Given the description of an element on the screen output the (x, y) to click on. 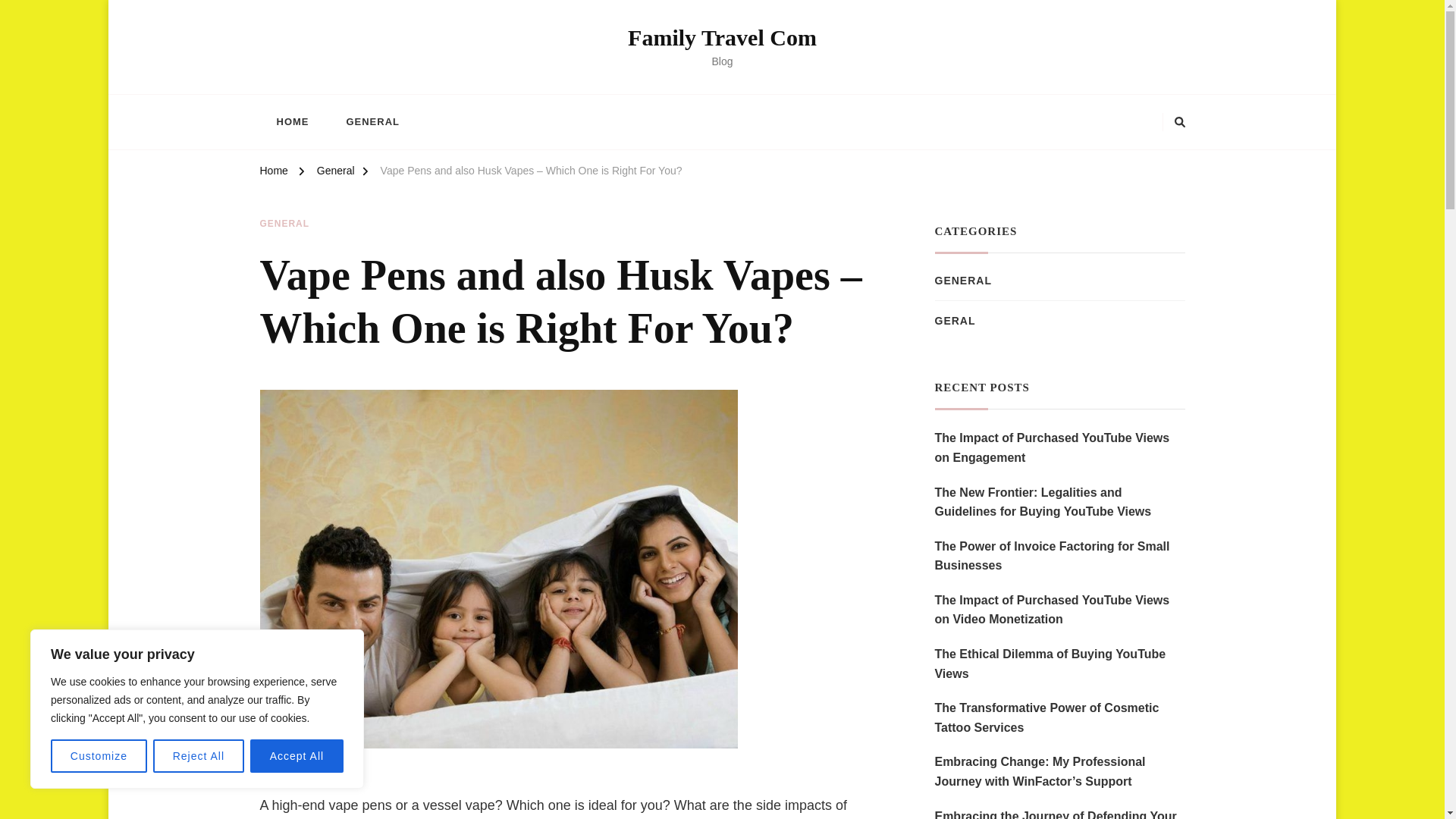
General (336, 172)
Customize (98, 756)
GENERAL (283, 223)
Home (272, 172)
HOME (291, 121)
GENERAL (371, 121)
Family Travel Com (721, 37)
Accept All (296, 756)
Reject All (198, 756)
